Given the description of an element on the screen output the (x, y) to click on. 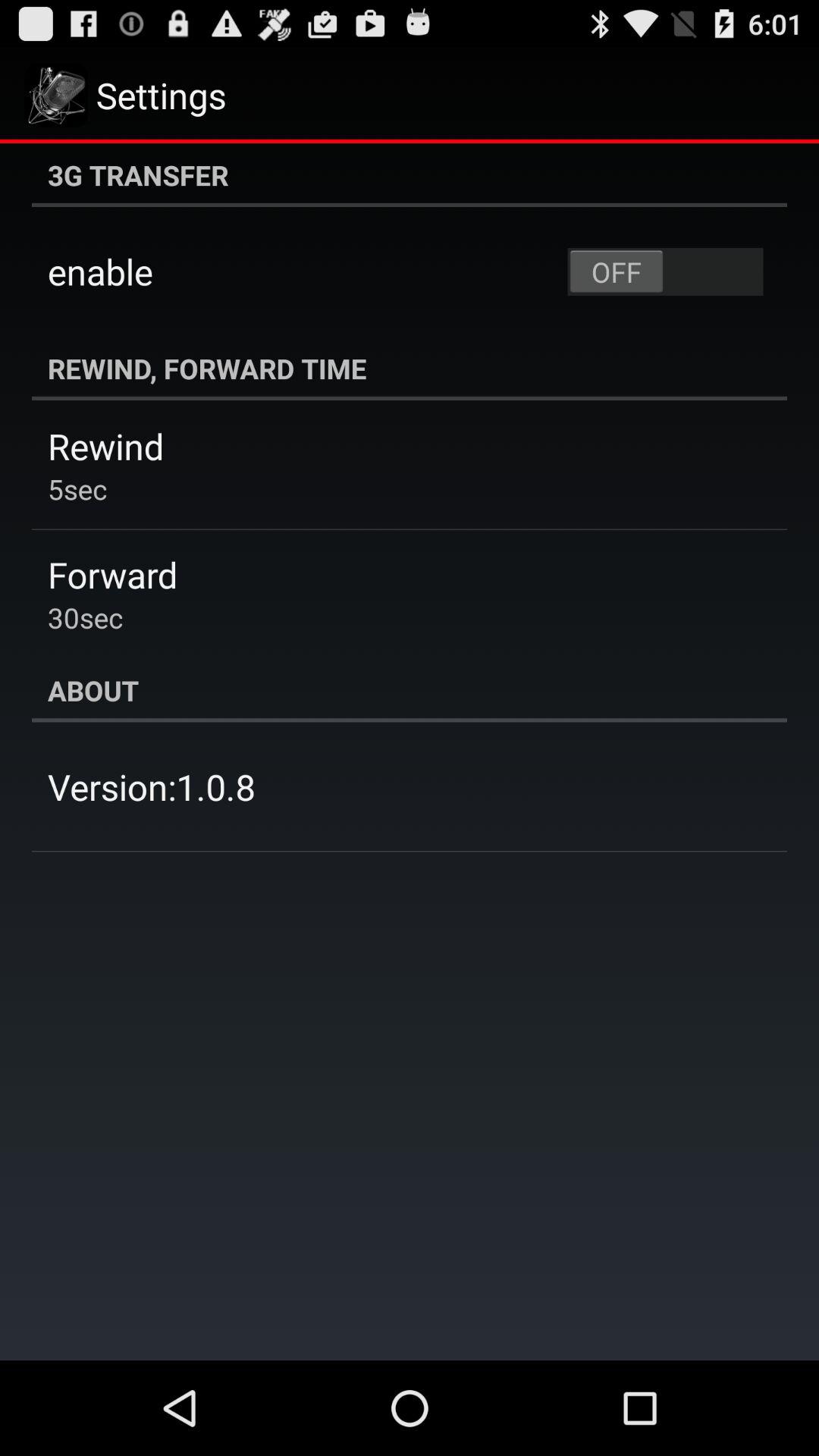
open the item above forward icon (77, 488)
